Given the description of an element on the screen output the (x, y) to click on. 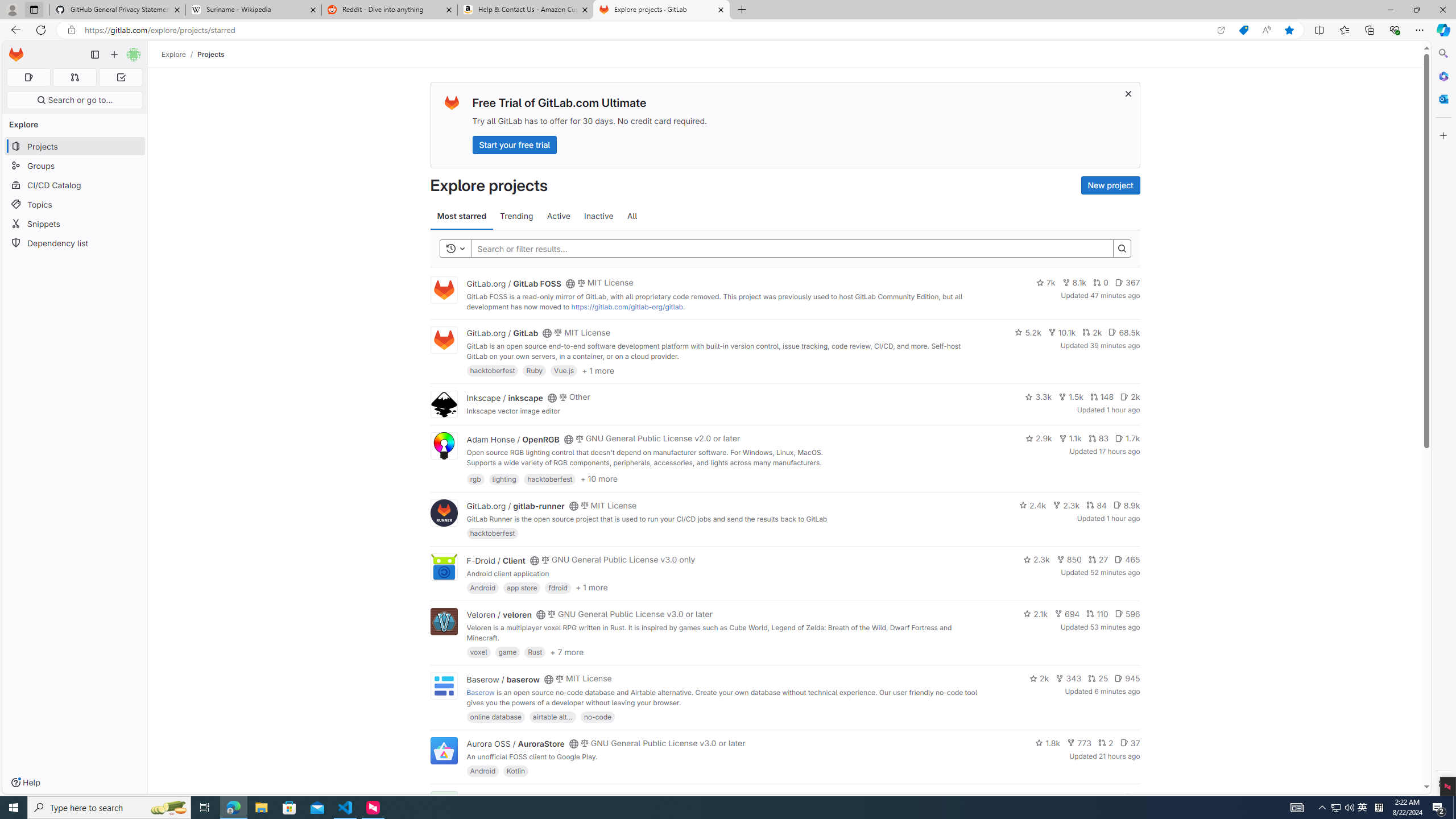
online database (495, 715)
8.1k (1073, 282)
+ 7 more (566, 651)
Adam Honse / OpenRGB (512, 438)
Trending (516, 216)
1.5k (1070, 396)
Edouard Klein / falsisign (512, 797)
app store (521, 587)
1.8k (1048, 742)
Dependency list (74, 242)
